Given the description of an element on the screen output the (x, y) to click on. 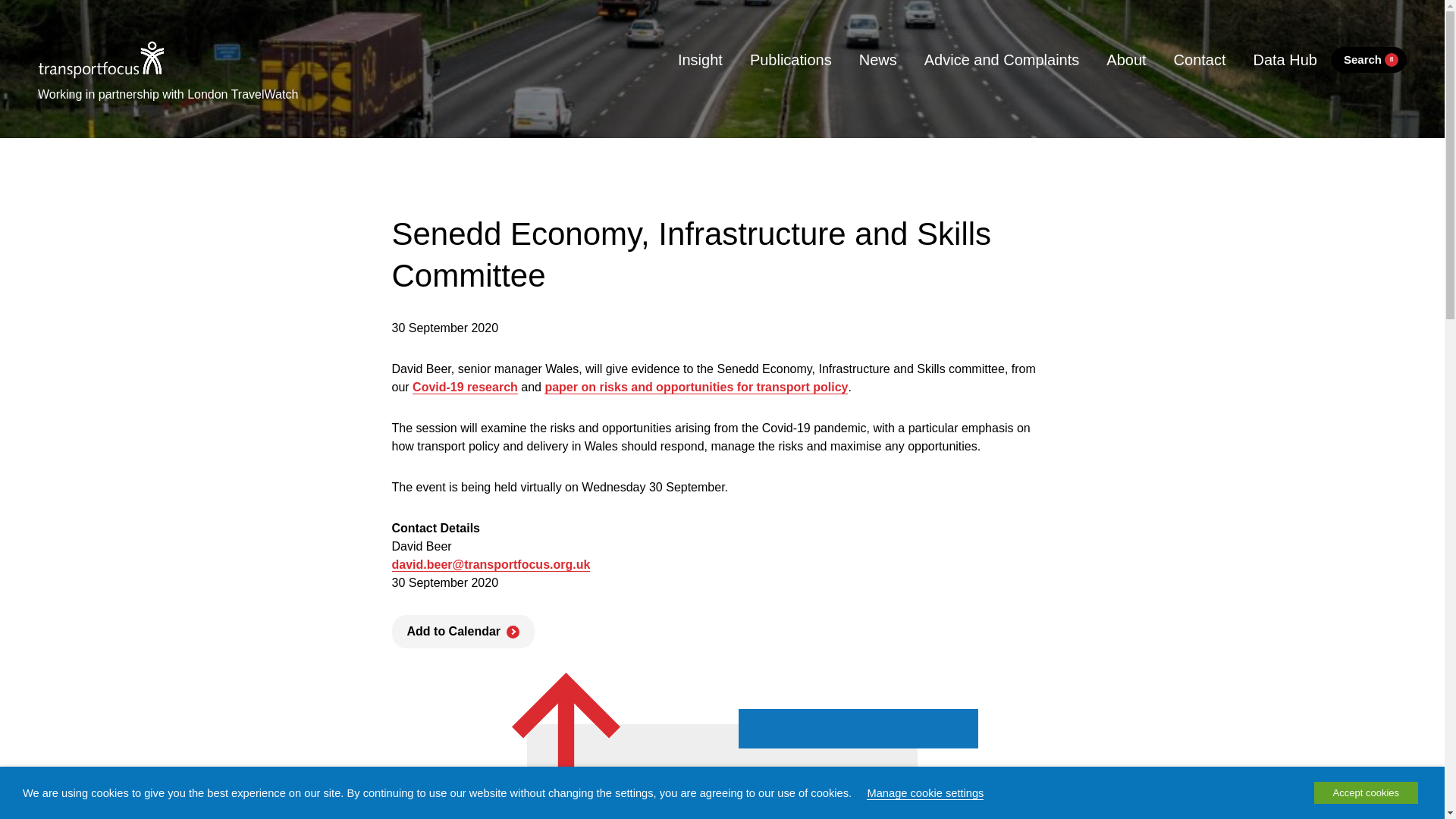
Insight (699, 59)
Contact (1200, 59)
Working in partnership with London TravelWatch (167, 91)
Data Hub (1284, 59)
About (1125, 59)
News (878, 59)
Publications (790, 59)
Add to Calendar (462, 631)
paper on risks and opportunities for transport policy (695, 386)
Covid-19 research (465, 386)
